Given the description of an element on the screen output the (x, y) to click on. 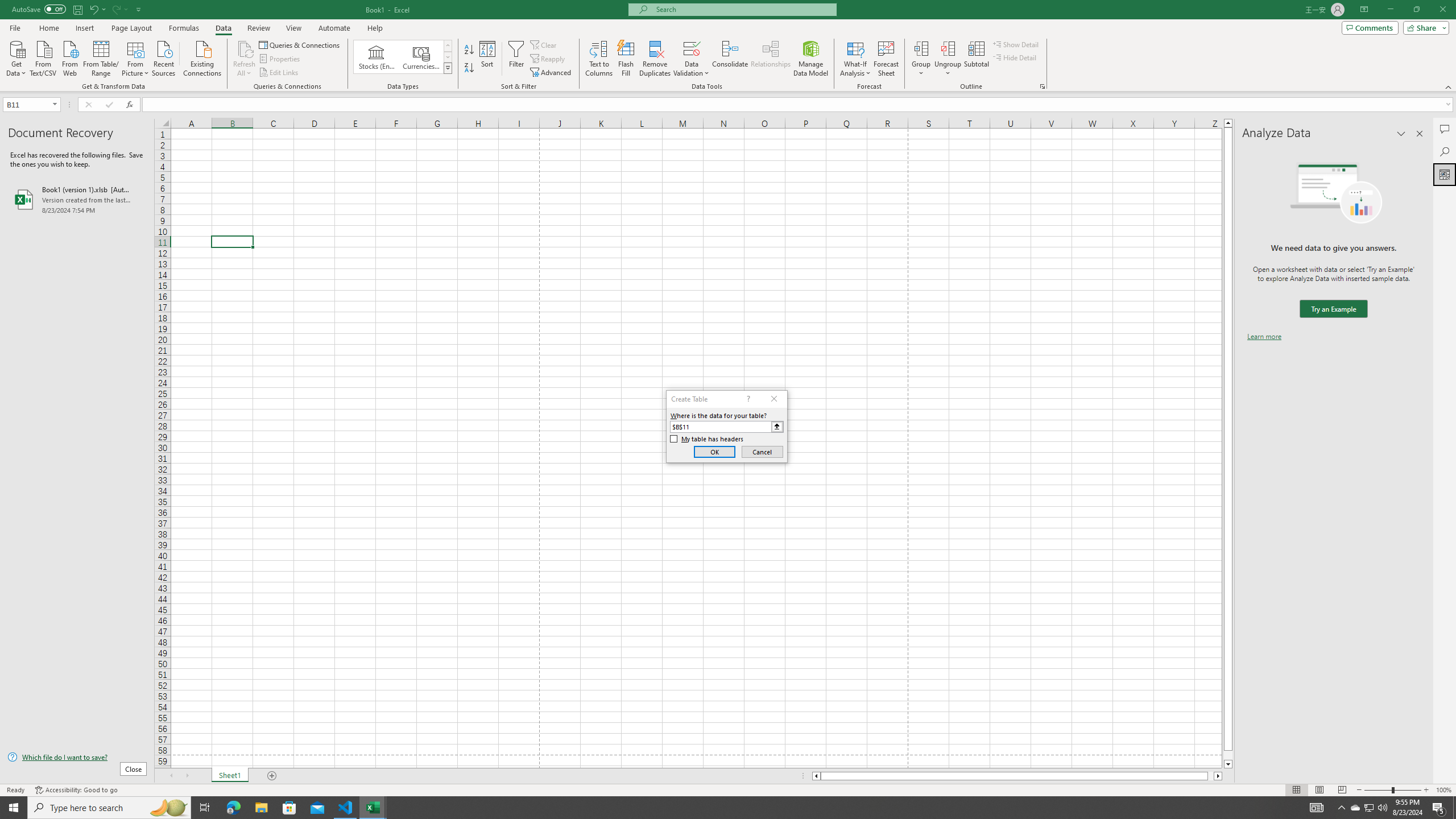
Hide Detail (1014, 56)
Group and Outline Settings (1042, 85)
Recent Sources (163, 57)
Row Down (448, 56)
From Text/CSV (43, 57)
Advanced... (551, 72)
Learn more (1264, 336)
